Given the description of an element on the screen output the (x, y) to click on. 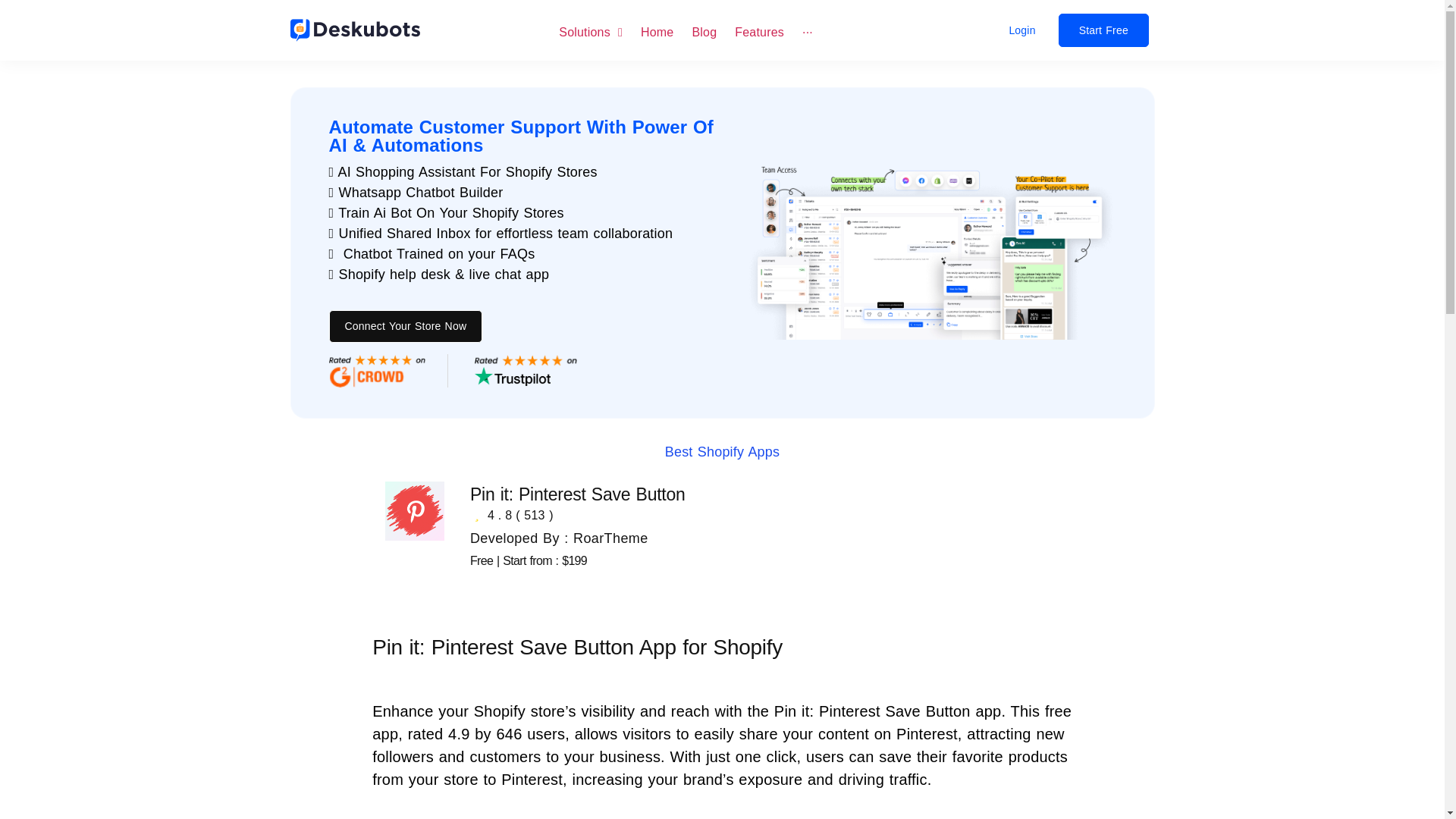
Login (1022, 30)
Home (656, 31)
Features (759, 31)
Start Free (1103, 29)
Connect Your Store Now (406, 326)
Blog (703, 31)
Best Shopify Apps (722, 451)
Solutions (591, 31)
